Given the description of an element on the screen output the (x, y) to click on. 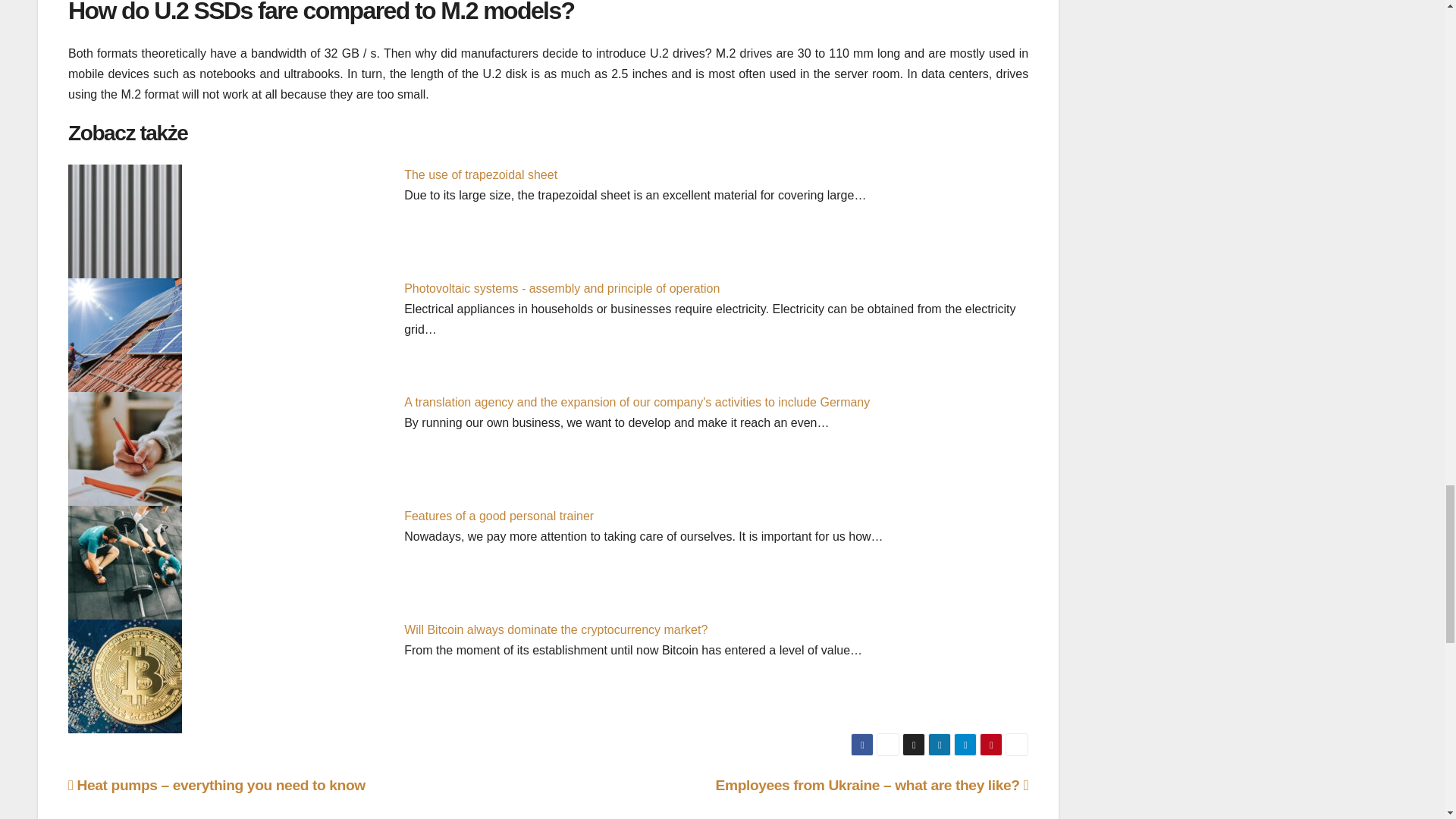
Will Bitcoin always dominate the cryptocurrency market? (555, 629)
Photovoltaic systems - assembly and principle of operation (561, 287)
The use of trapezoidal sheet (480, 174)
Features of a good personal trainer (499, 515)
